Given the description of an element on the screen output the (x, y) to click on. 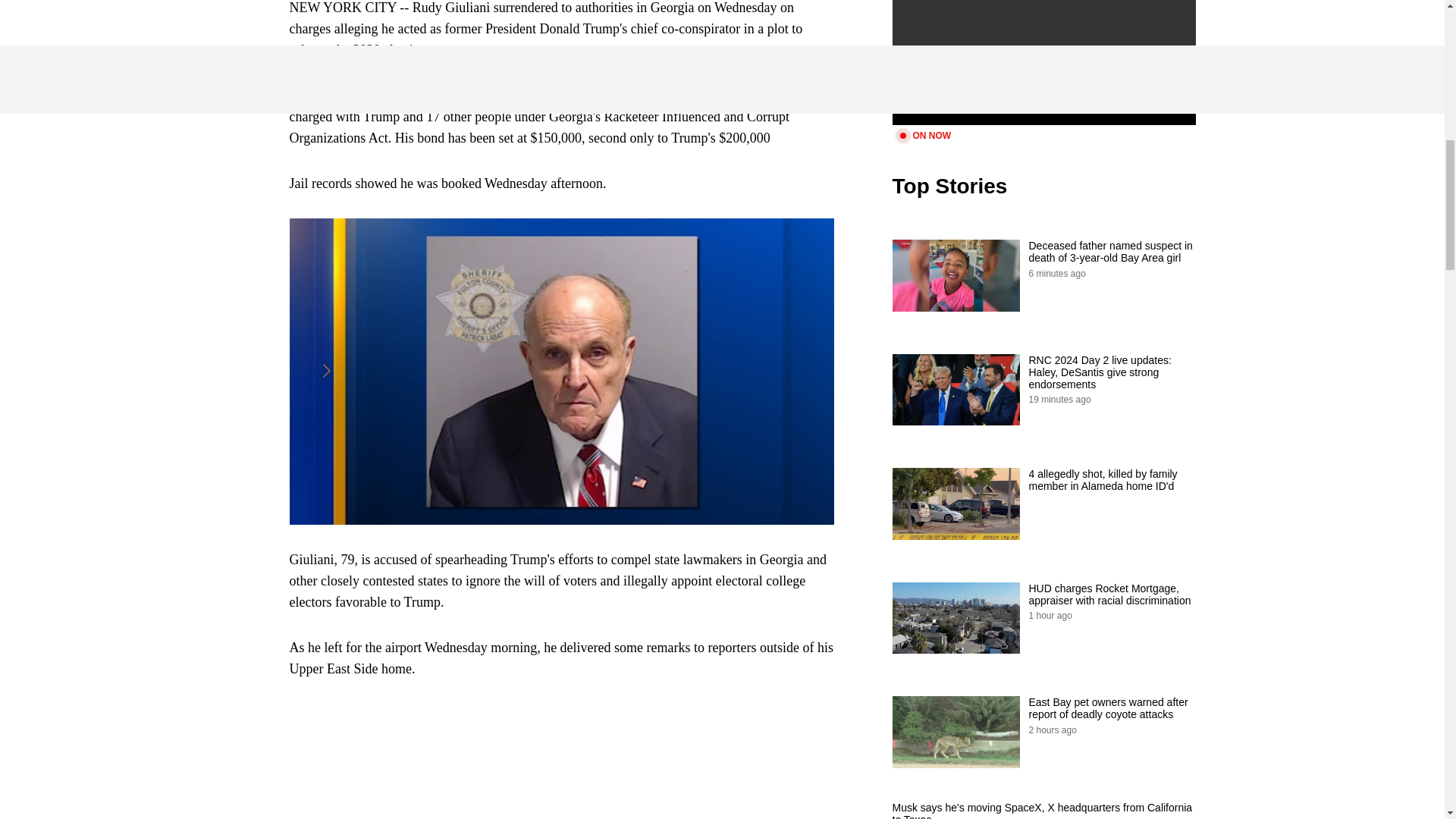
video.title (1043, 62)
